Given the description of an element on the screen output the (x, y) to click on. 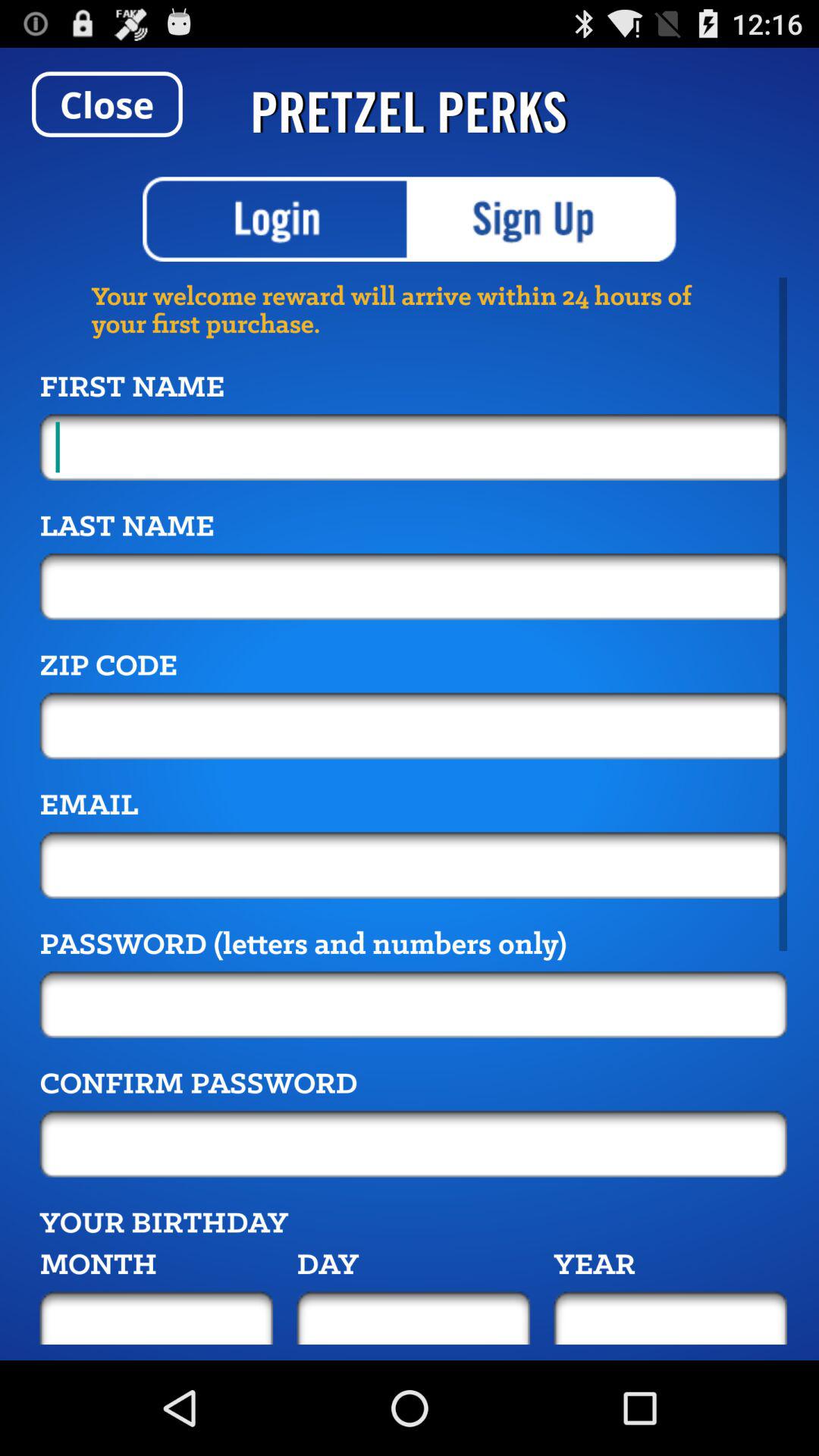
because back devicer (413, 865)
